Given the description of an element on the screen output the (x, y) to click on. 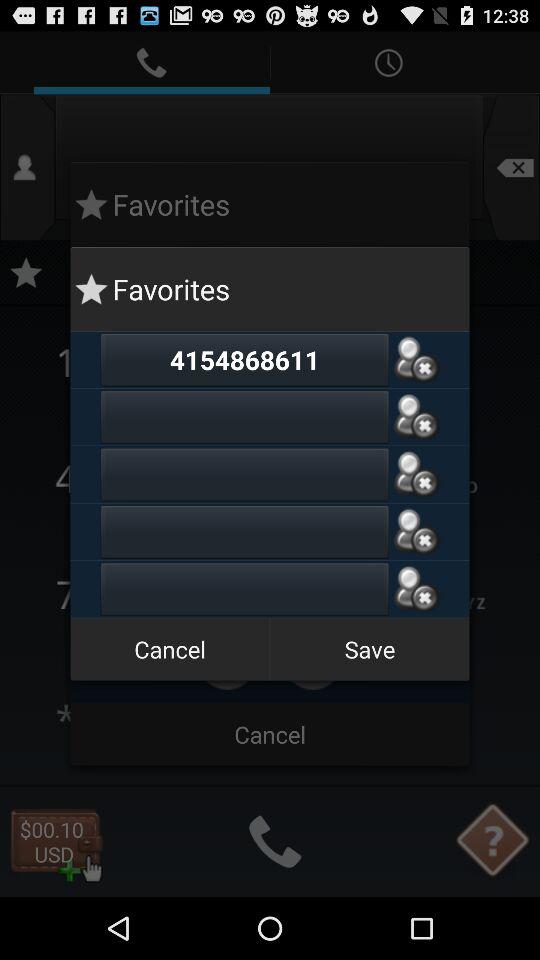
remove this contact (416, 589)
